Given the description of an element on the screen output the (x, y) to click on. 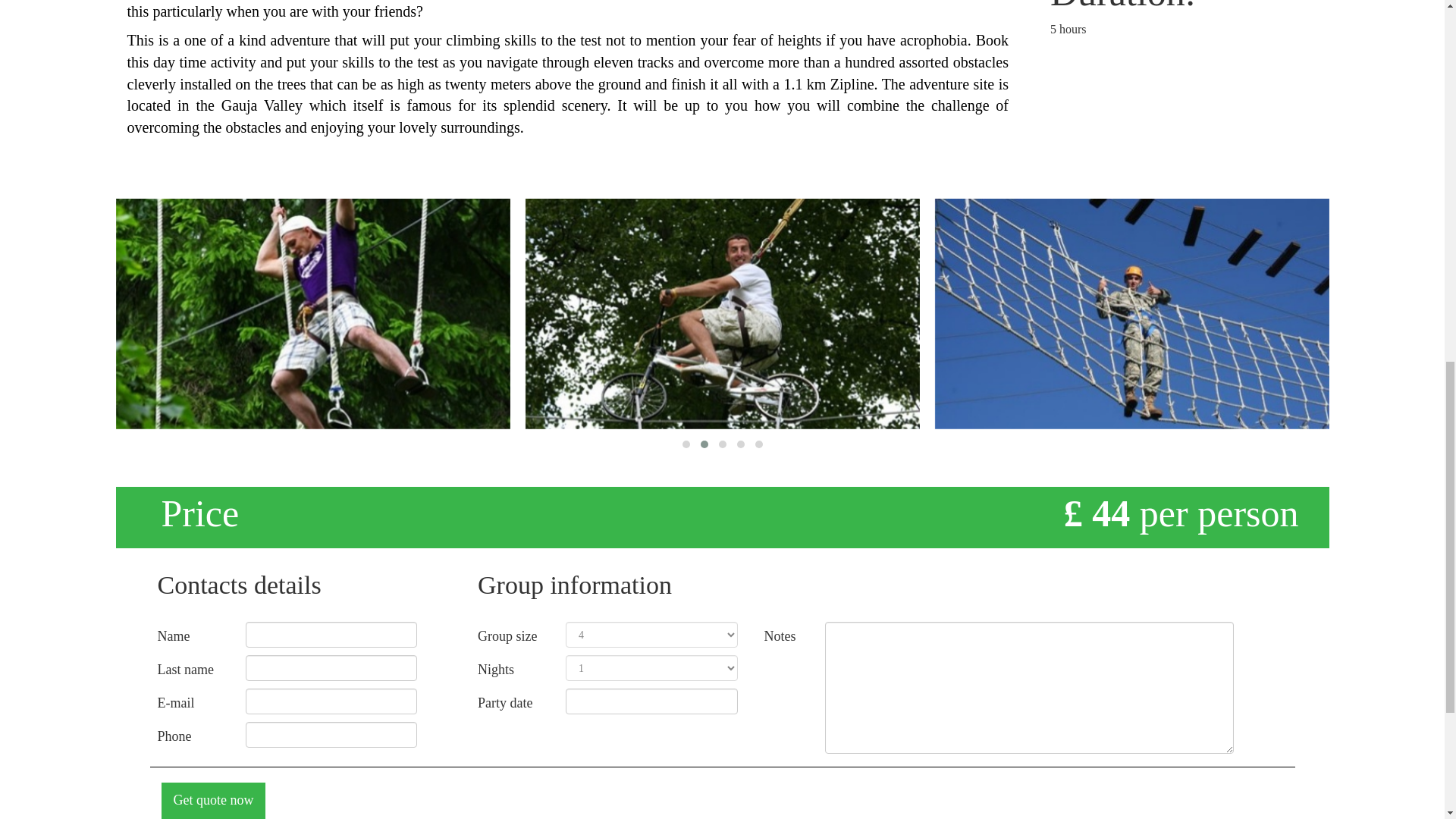
Get quote now (212, 800)
